Given the description of an element on the screen output the (x, y) to click on. 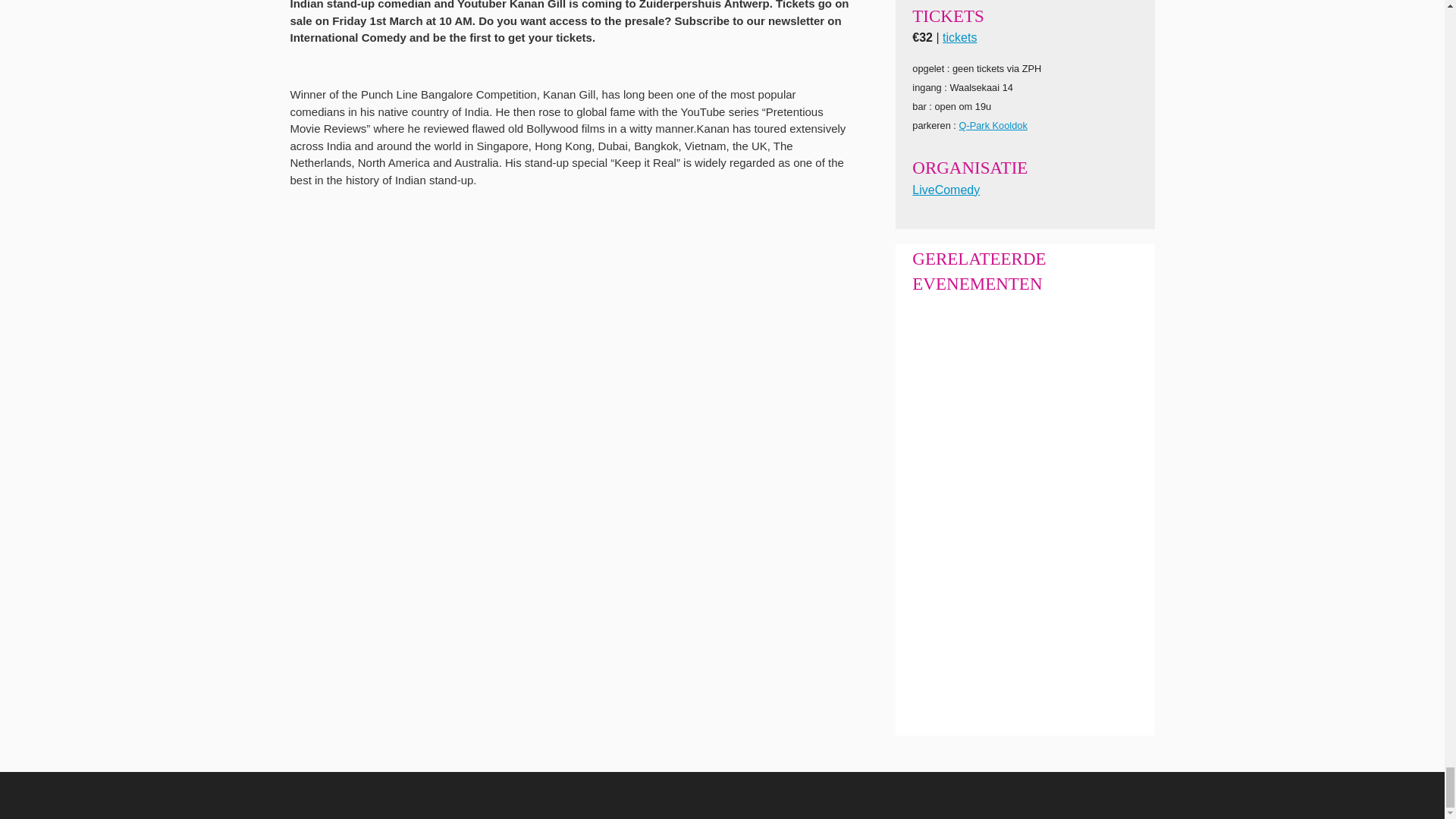
Q-Park Kooldok (992, 125)
tickets (959, 37)
YouTube video player (501, 341)
LiveComedy (945, 189)
